Given the description of an element on the screen output the (x, y) to click on. 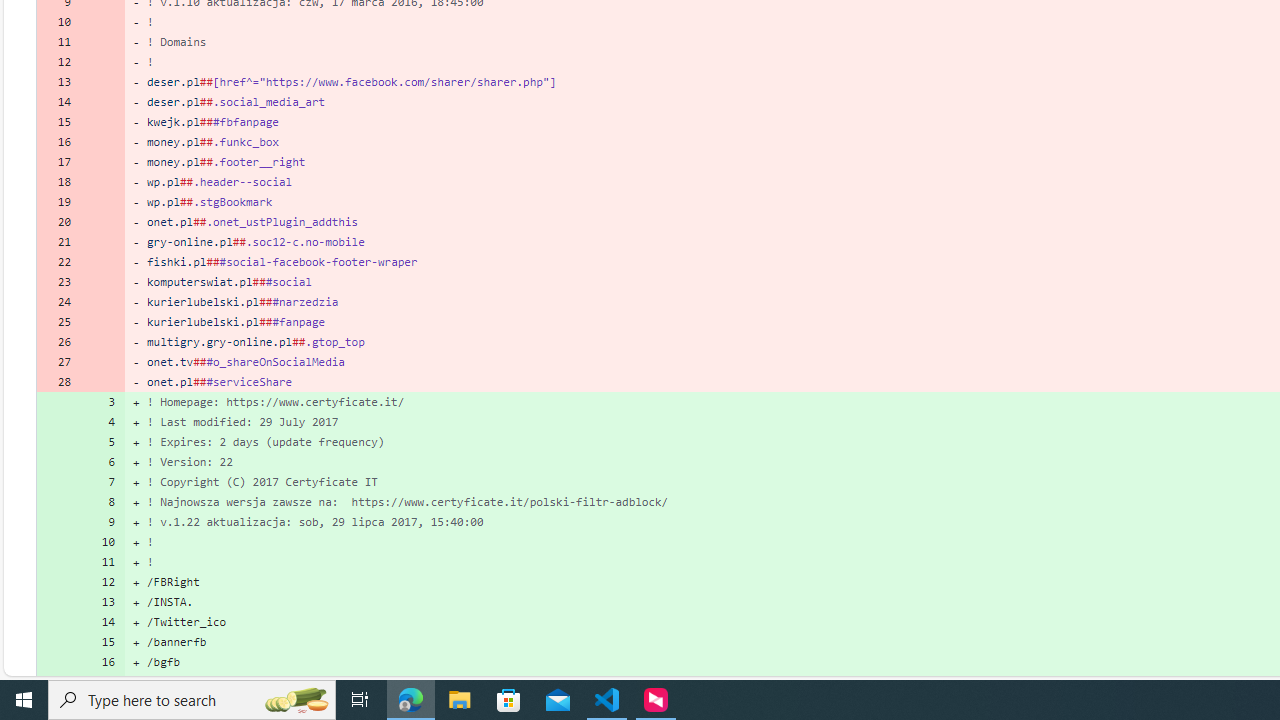
10 (102, 542)
19 (58, 201)
7 (102, 481)
25 (58, 321)
15 (102, 642)
22 (58, 261)
24 (58, 301)
23 (58, 282)
13 (102, 601)
5 (102, 442)
20 (58, 221)
17 (102, 681)
8 (102, 501)
